Given the description of an element on the screen output the (x, y) to click on. 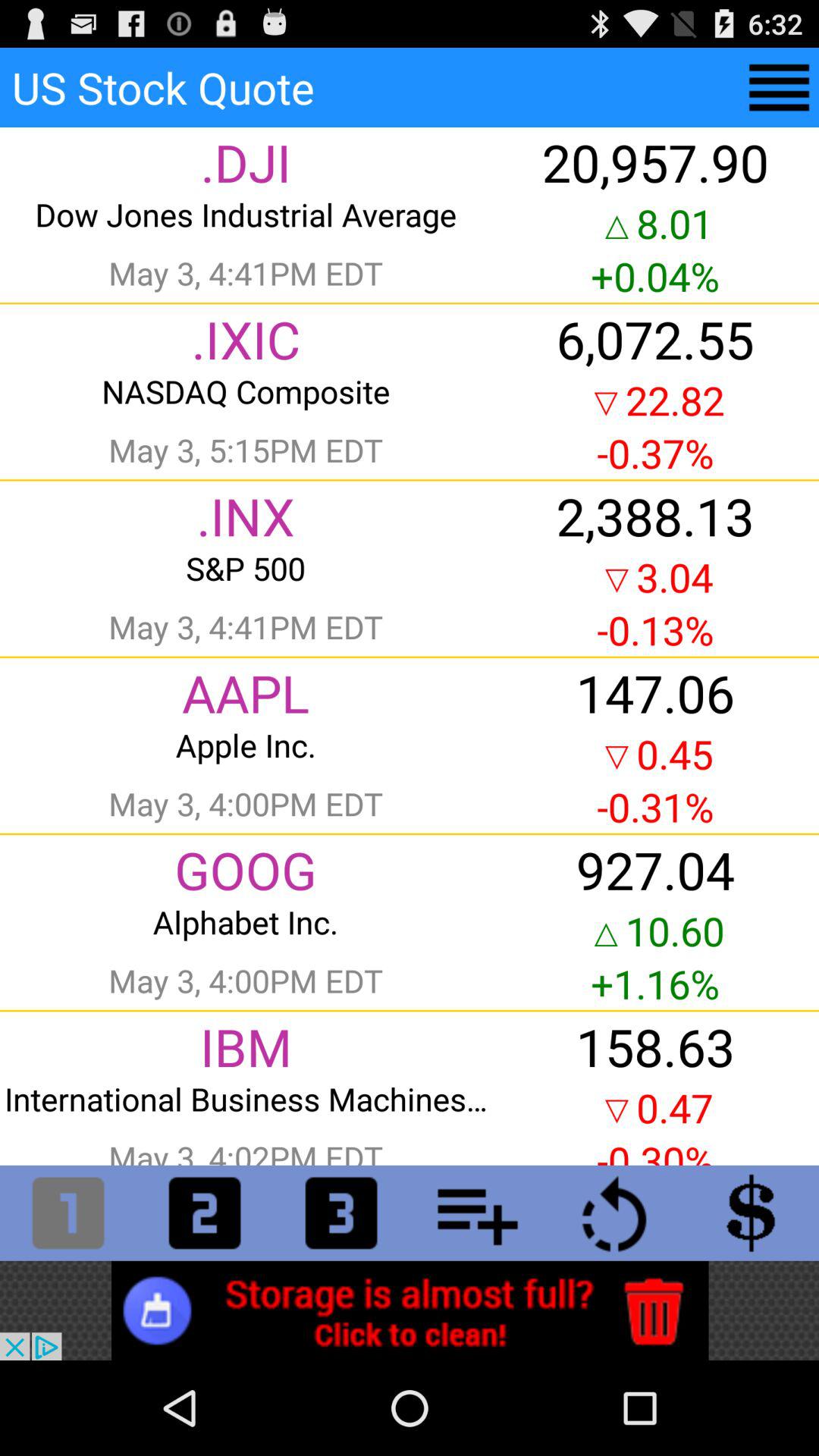
more option (779, 87)
